Given the description of an element on the screen output the (x, y) to click on. 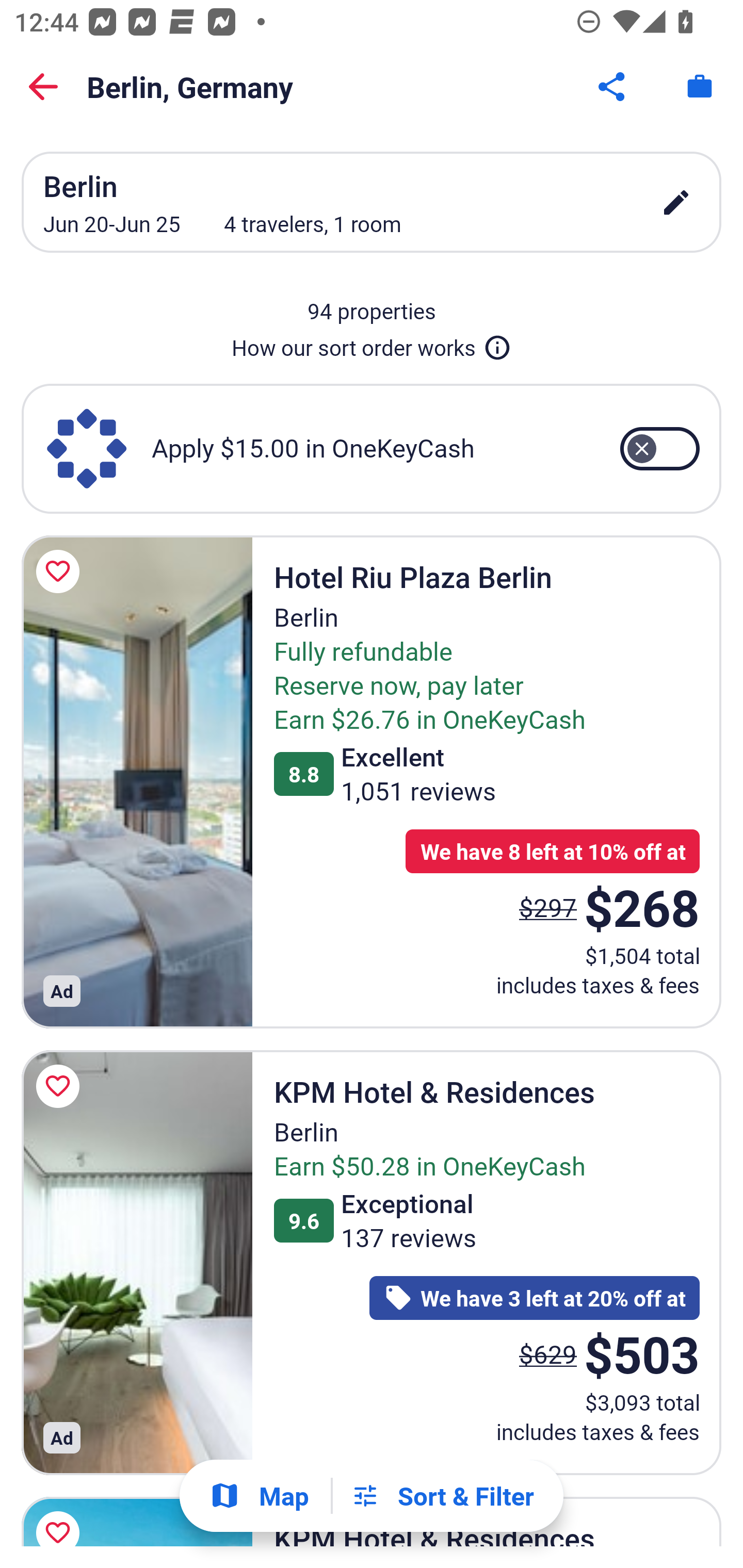
Back (43, 86)
Share Button (612, 86)
Trips. Button (699, 86)
Berlin Jun 20-Jun 25 4 travelers, 1 room edit (371, 202)
How our sort order works (371, 344)
Save Hotel Riu Plaza Berlin to a trip (61, 571)
Hotel Riu Plaza Berlin (136, 781)
$297 The price was $297 (547, 906)
Save KPM Hotel & Residences to a trip (61, 1085)
KPM Hotel & Residences (136, 1262)
$629 The price was $629 (547, 1353)
Filters Sort & Filter Filters Button (442, 1495)
Show map Map Show map Button (258, 1495)
Save KPM Hotel & Residences to a trip (61, 1517)
